Given the description of an element on the screen output the (x, y) to click on. 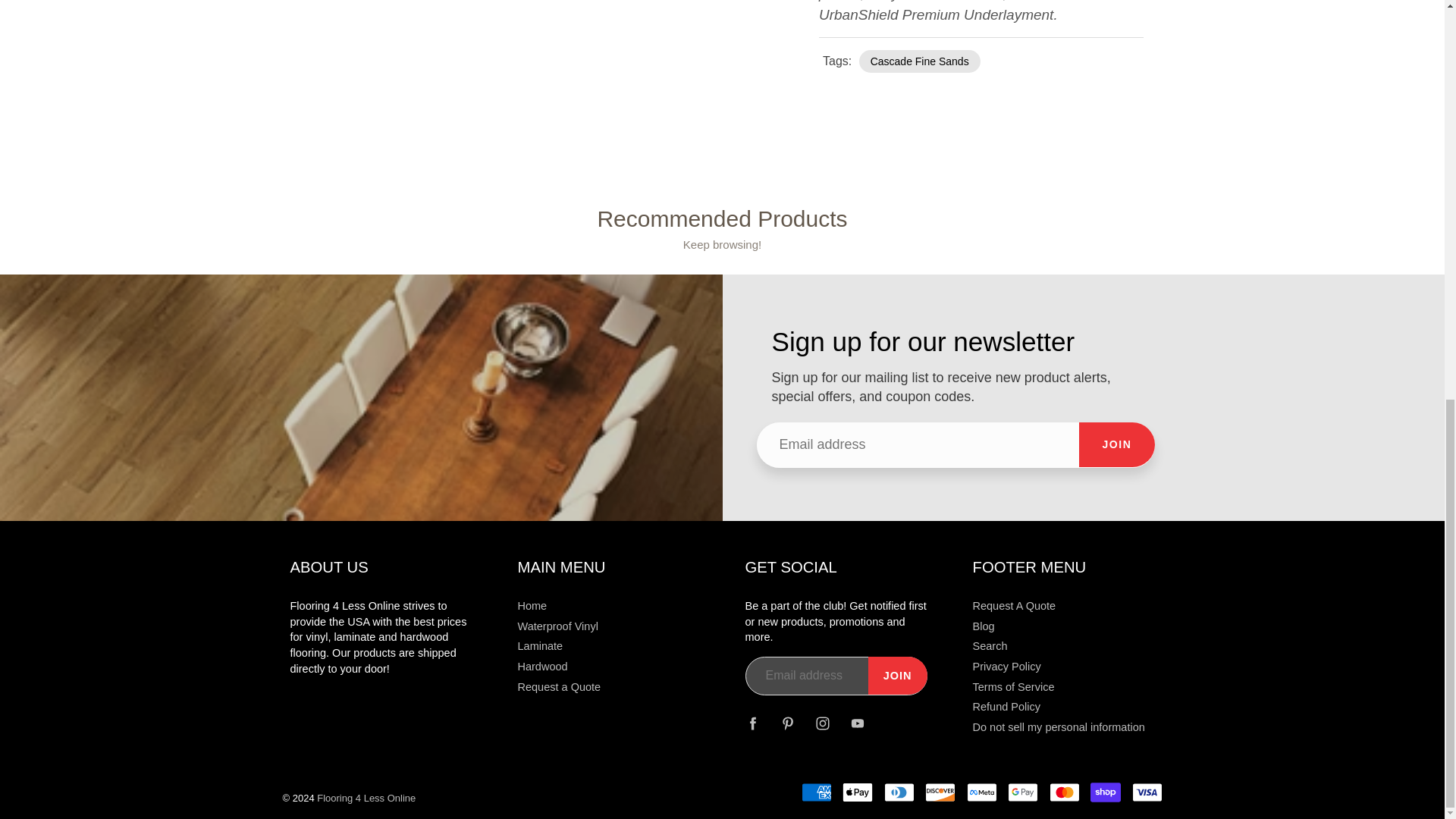
Facebook (753, 723)
Mastercard (1064, 792)
YouTube (857, 723)
Diners Club (898, 792)
Visa (1146, 792)
Google Pay (1022, 792)
Apple Pay (857, 792)
Pinterest (788, 723)
Discover (939, 792)
Instagram (822, 723)
